Given the description of an element on the screen output the (x, y) to click on. 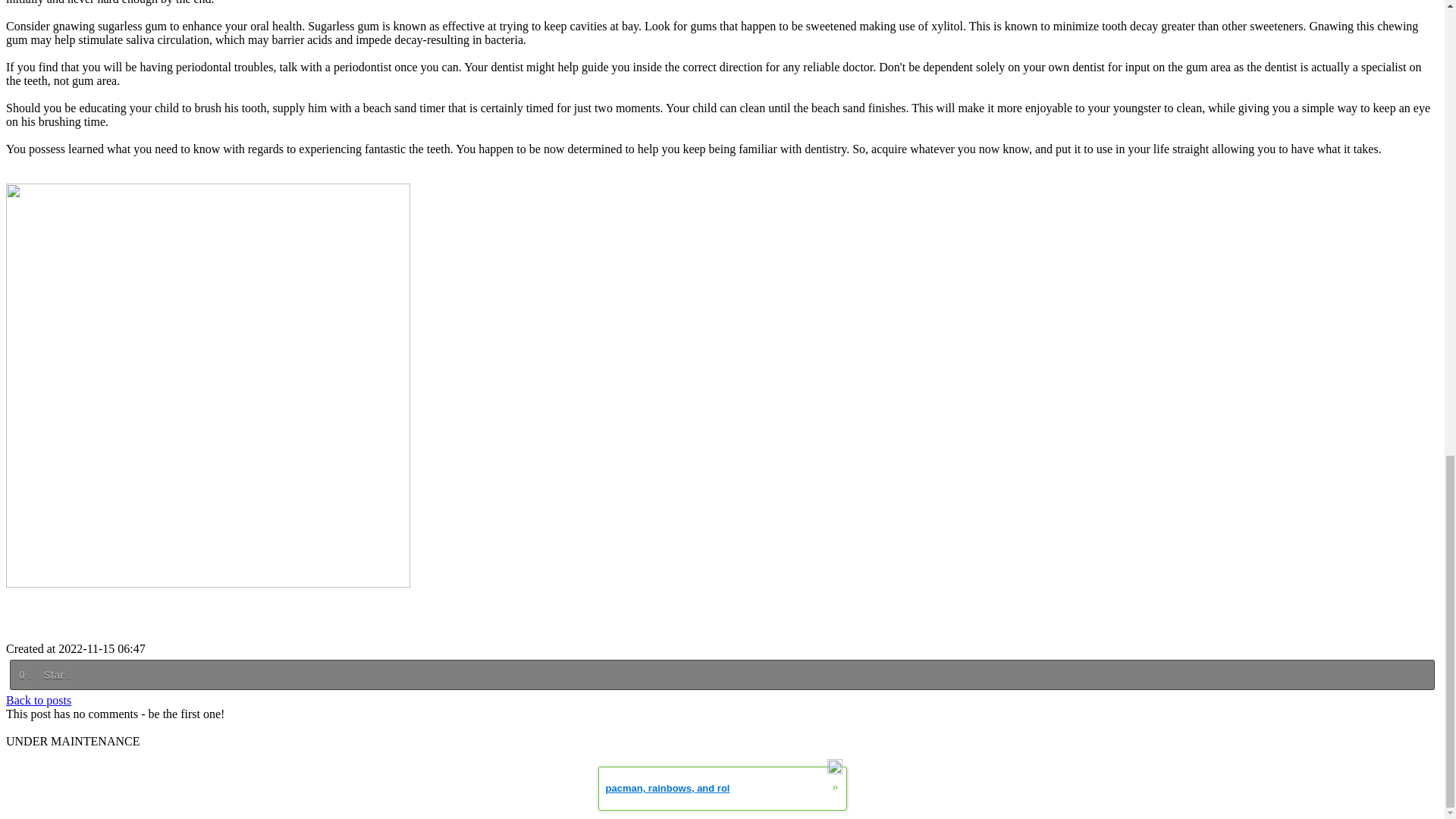
Back to posts (38, 699)
Star (56, 674)
0 (24, 674)
